Given the description of an element on the screen output the (x, y) to click on. 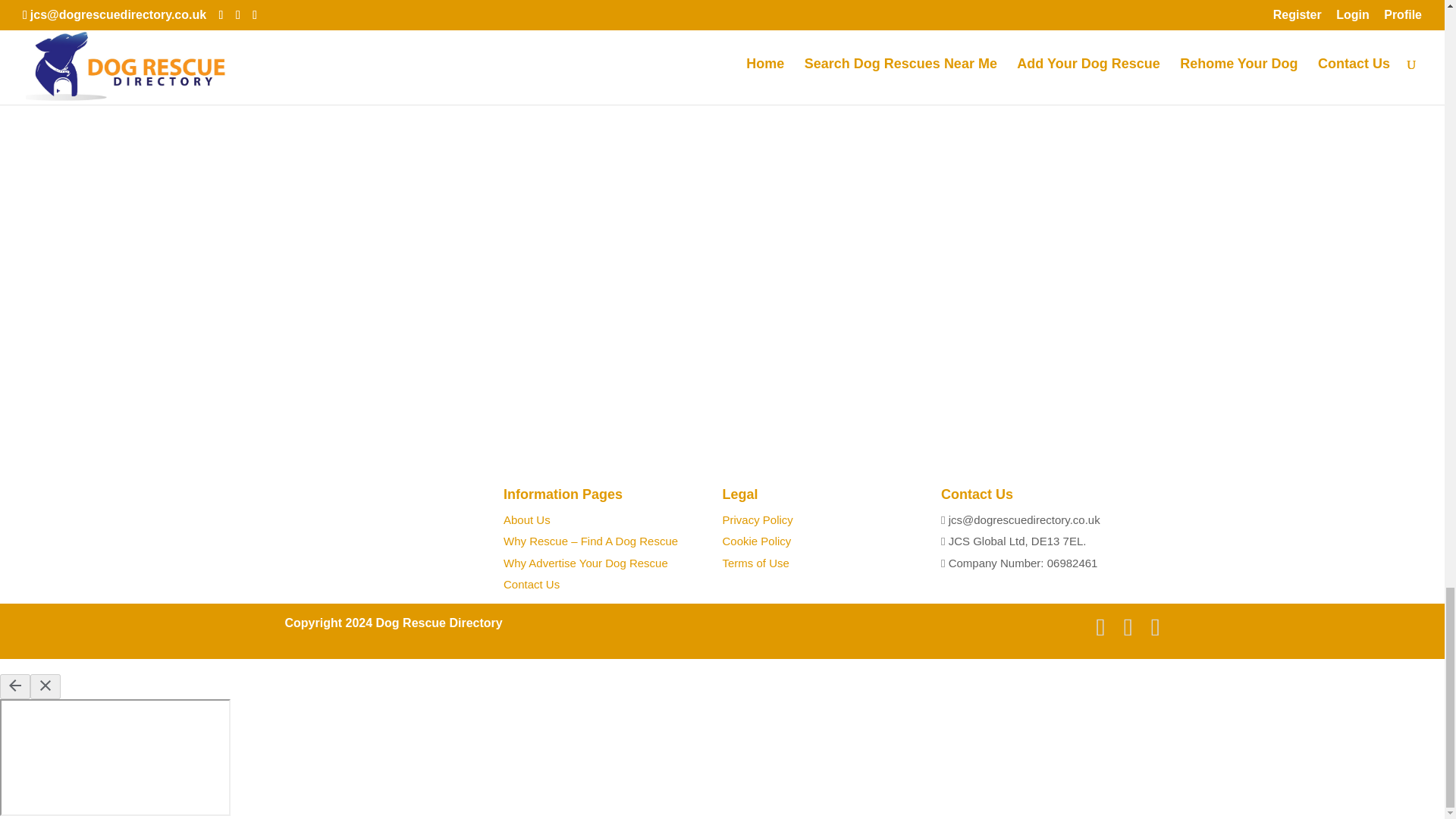
Contact Us (531, 584)
Privacy Policy (757, 519)
Why Advertise Your Dog Rescue (585, 562)
About Us (526, 519)
